Given the description of an element on the screen output the (x, y) to click on. 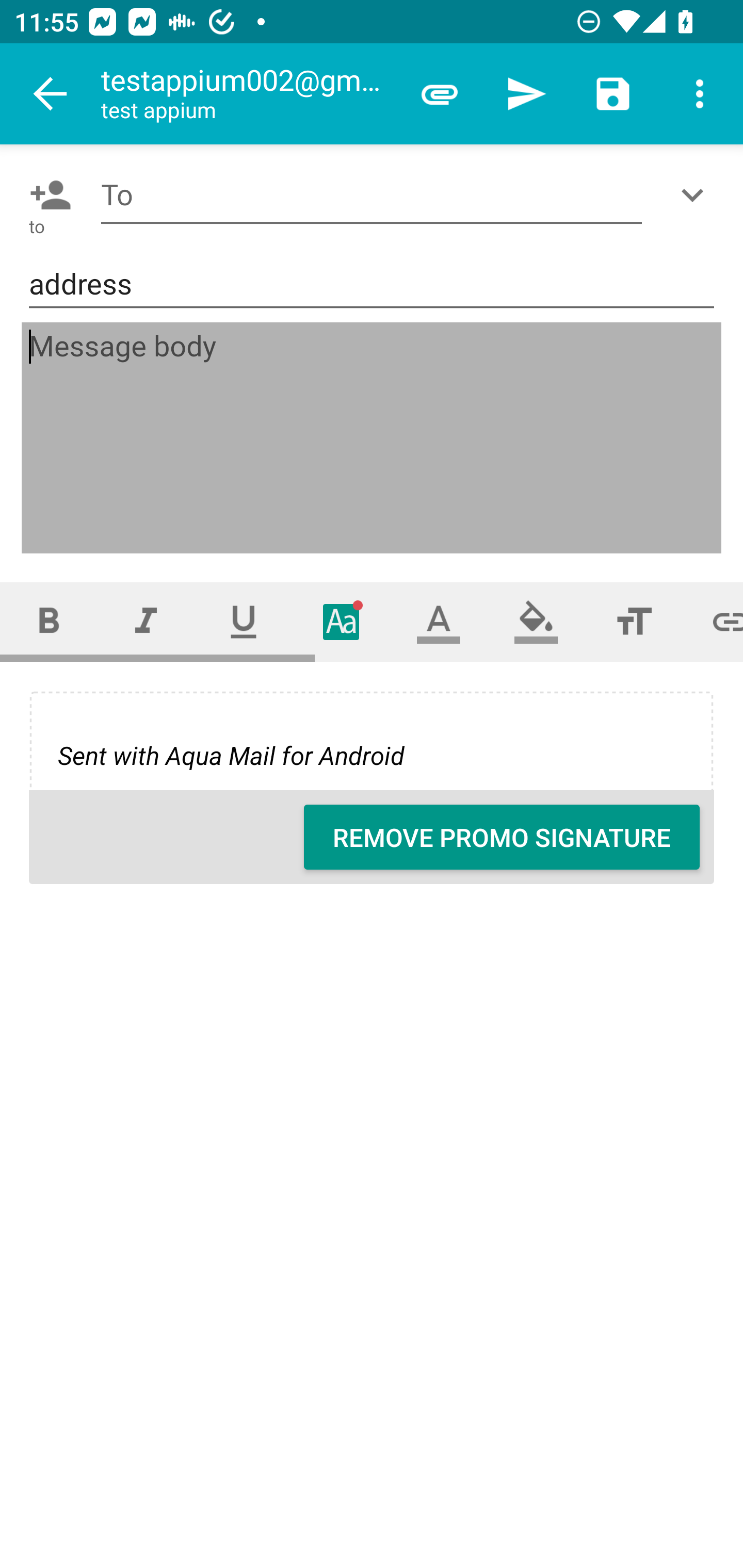
Navigate up (50, 93)
testappium002@gmail.com test appium (248, 93)
Attach (439, 93)
Send (525, 93)
Save (612, 93)
More options (699, 93)
Pick contact: To (46, 195)
Show/Add CC/BCC (696, 195)
To (371, 195)
address (371, 284)
Message body (372, 438)
Bold (48, 621)
Italic (145, 621)
Underline (243, 621)
Typeface (font) (341, 621)
Text color (438, 621)
Fill color (536, 621)
Font size (633, 621)
Set link (712, 621)
REMOVE PROMO SIGNATURE (501, 837)
